Given the description of an element on the screen output the (x, y) to click on. 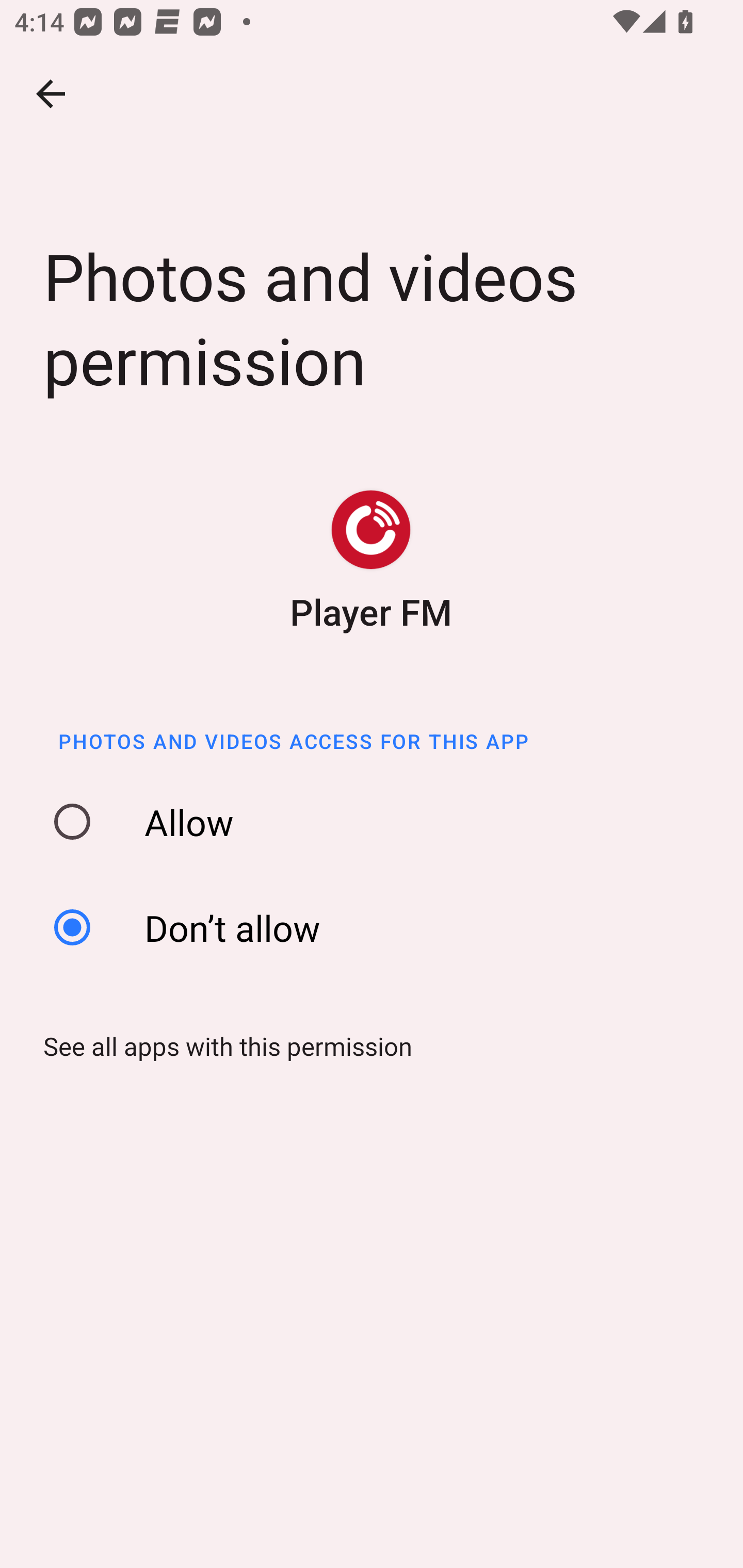
Back (50, 93)
Allow (378, 822)
Don’t allow (378, 927)
See all apps with this permission (220, 1045)
